Given the description of an element on the screen output the (x, y) to click on. 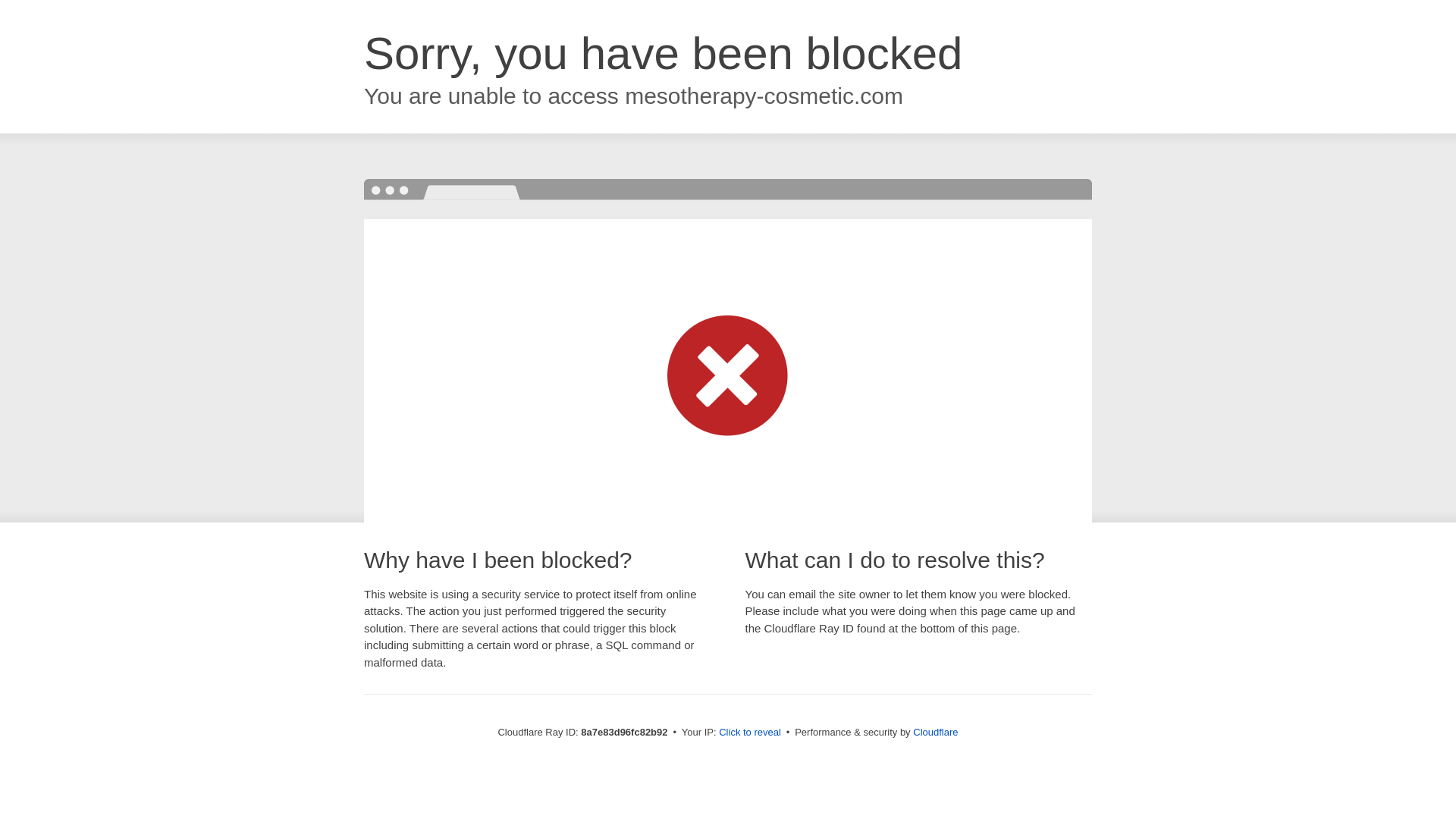
Cloudflare (935, 731)
Click to reveal (749, 732)
